Given the description of an element on the screen output the (x, y) to click on. 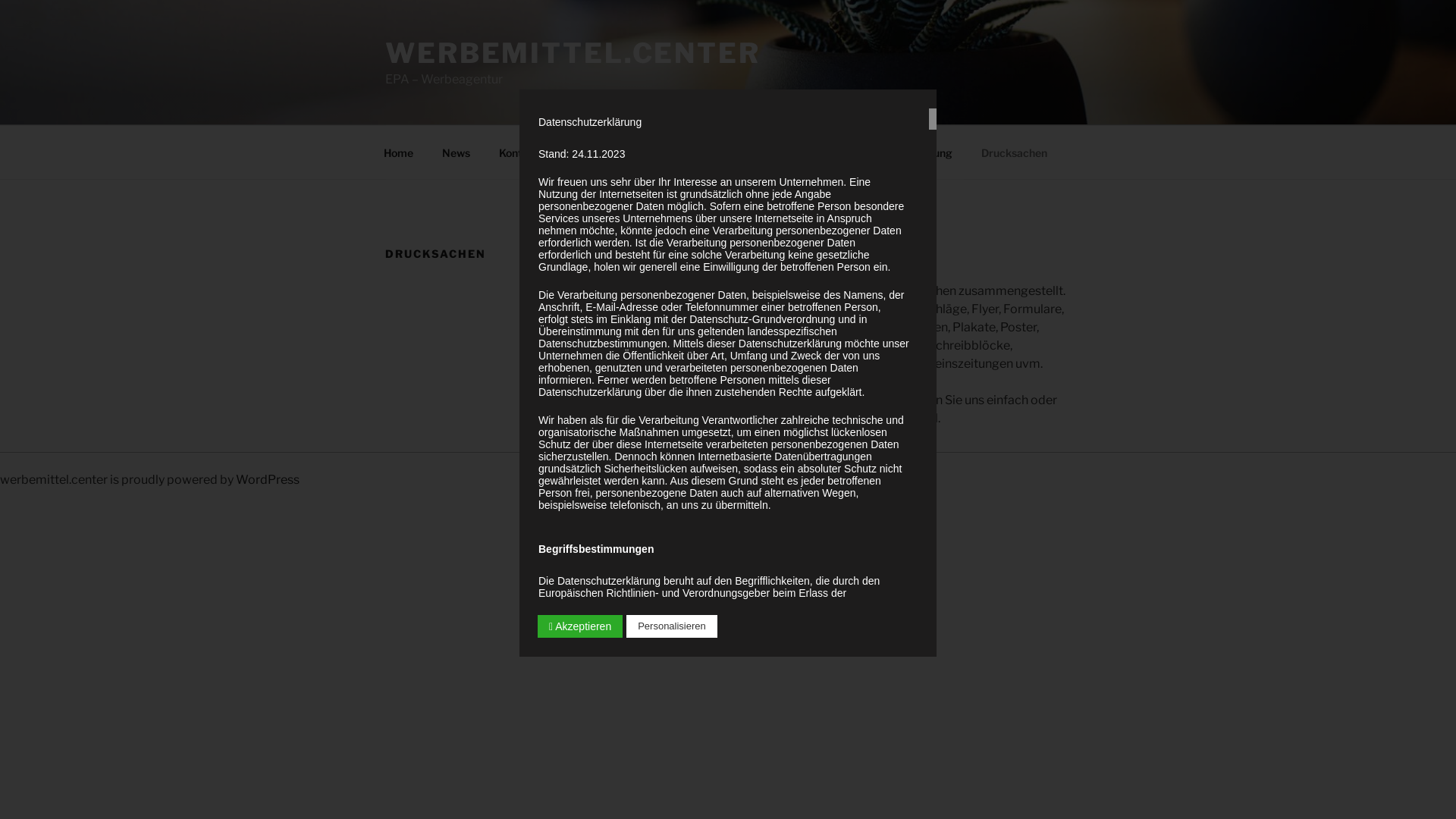
Kontakt Element type: text (518, 151)
Personalisieren Element type: text (671, 626)
Aktion Element type: text (677, 151)
Gravuren Element type: text (747, 151)
Kleidung Element type: text (929, 151)
News Element type: text (455, 151)
WERBEMITTEL.CENTER Element type: text (572, 52)
Home Element type: text (398, 151)
Drucksachen Element type: text (1013, 151)
WordPress Element type: text (267, 479)
Werbemittel Element type: text (599, 151)
Beschriftungen Element type: text (838, 151)
